Given the description of an element on the screen output the (x, y) to click on. 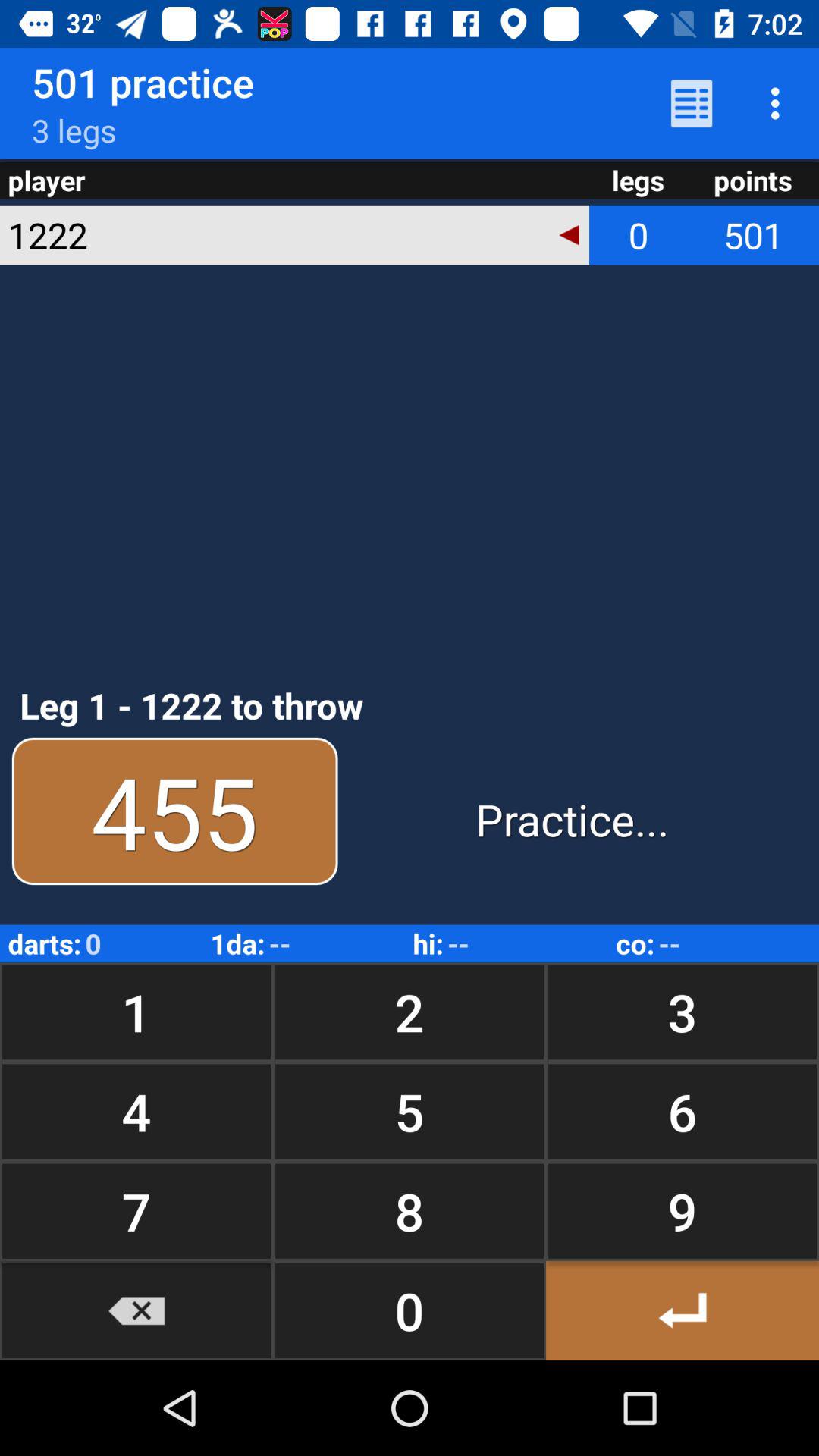
turn off the icon below 7 button (136, 1310)
